Given the description of an element on the screen output the (x, y) to click on. 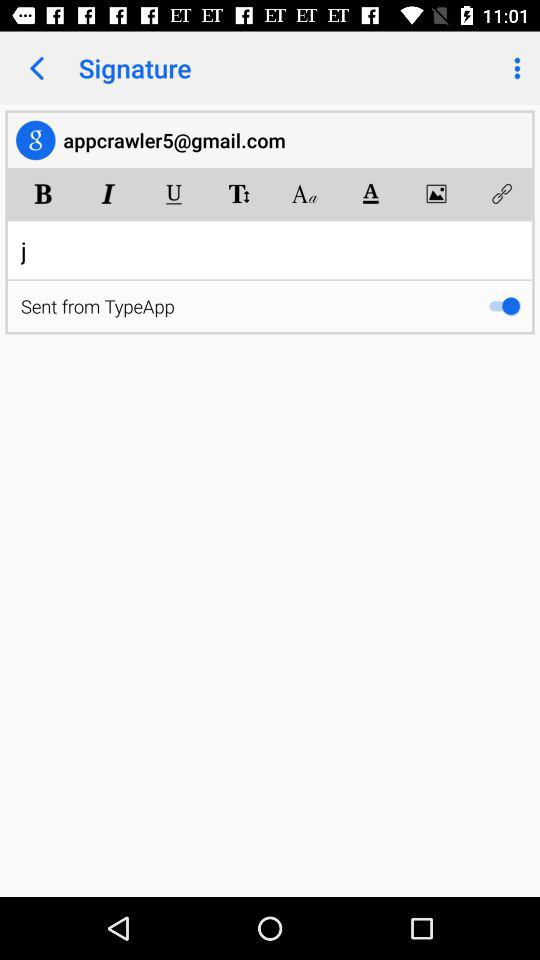
click item above j icon (173, 194)
